Given the description of an element on the screen output the (x, y) to click on. 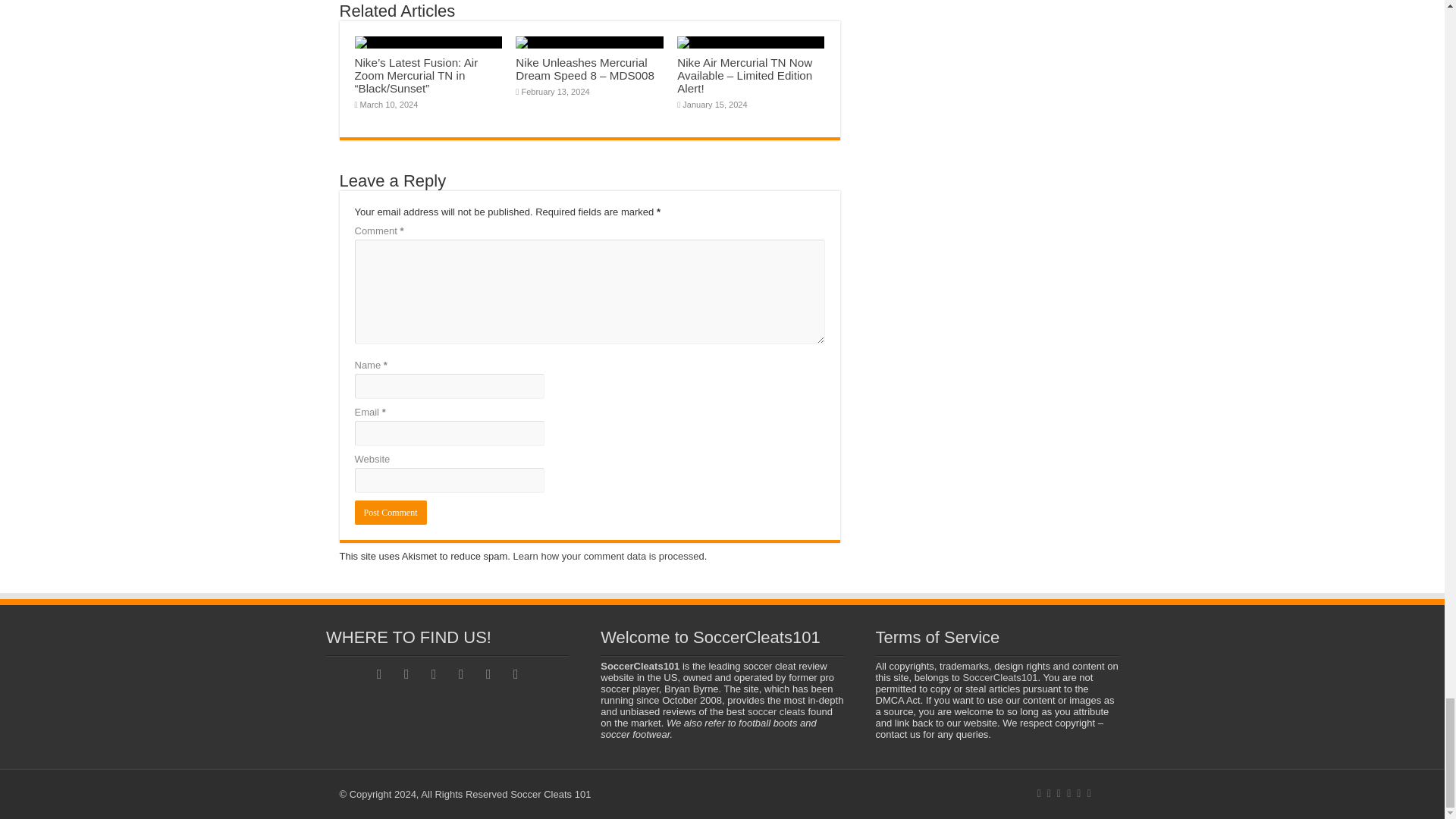
Post Comment (390, 512)
